Given the description of an element on the screen output the (x, y) to click on. 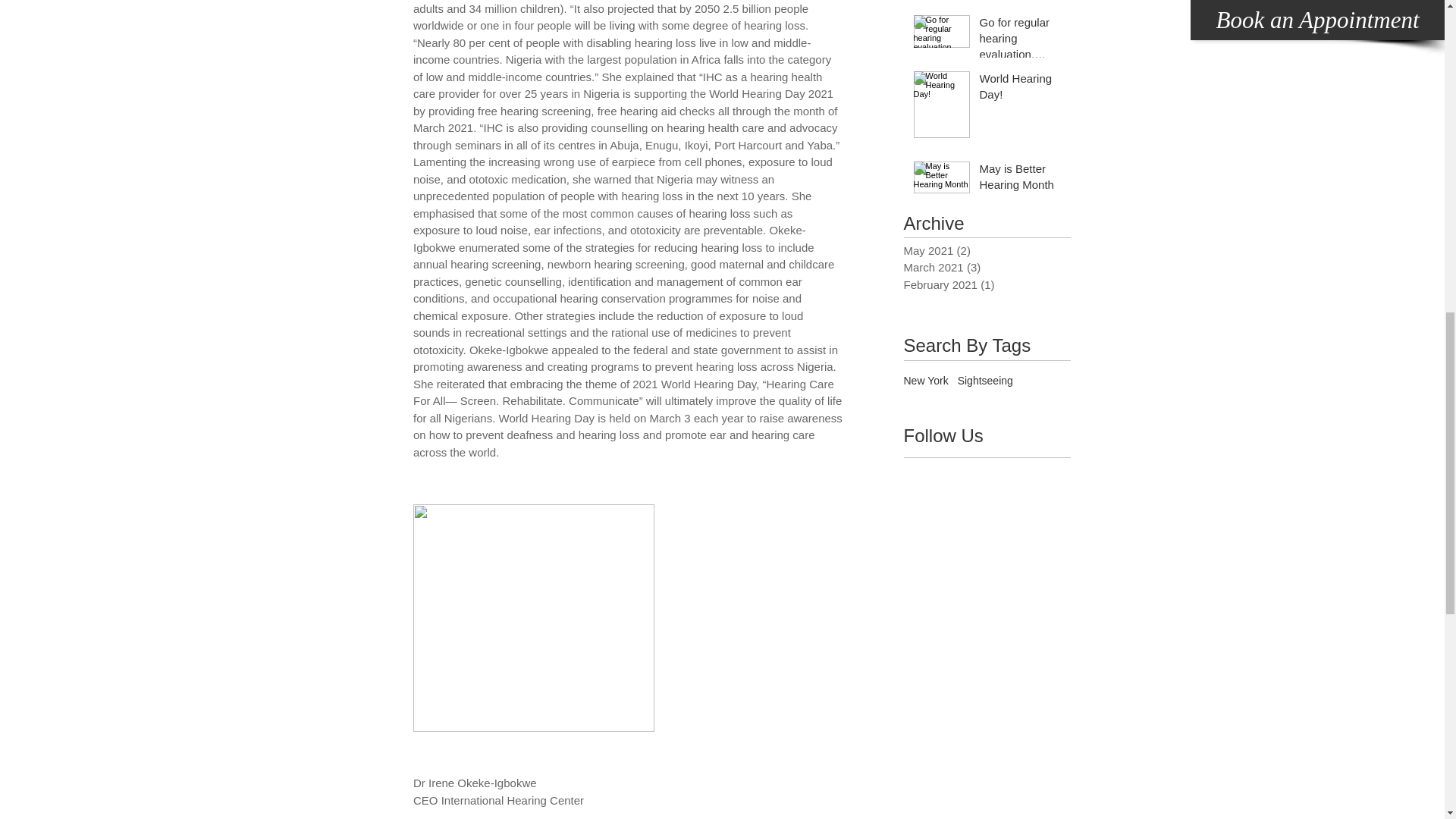
Go for regular hearing evaluation, expert says (1020, 40)
May is Better Hearing Month (1020, 179)
World Hearing Day! (1020, 89)
